Given the description of an element on the screen output the (x, y) to click on. 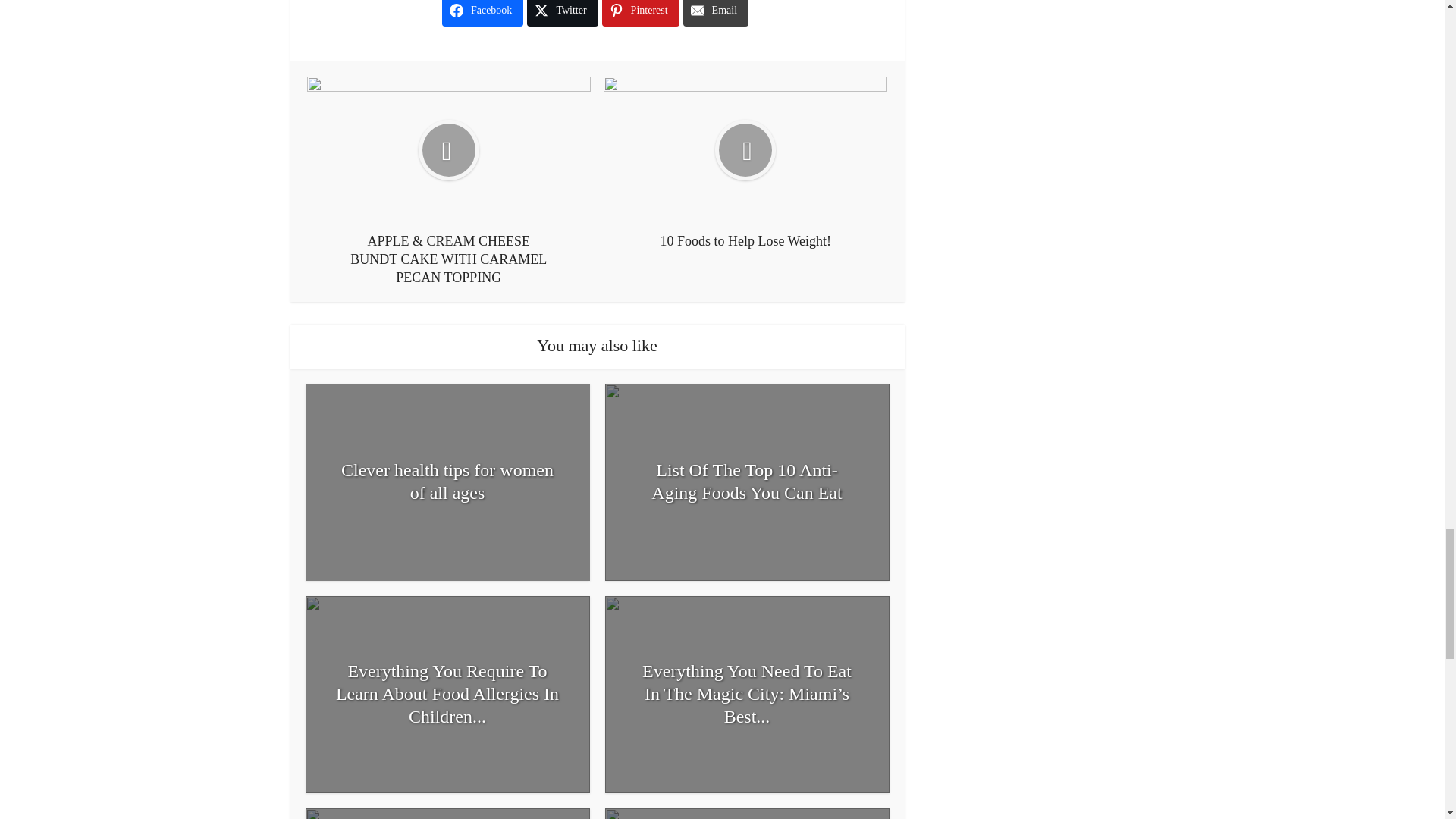
List Of The Top 10 Anti-Aging Foods You Can Eat (747, 481)
Pinterest (640, 13)
Share on Facebook (482, 13)
10 Foods to Help Lose Weight! (745, 162)
Clever health tips for women of all ages (446, 481)
Share on Email (715, 13)
Share on Pinterest (640, 13)
Email (715, 13)
Facebook (482, 13)
Twitter (561, 13)
Clever health tips for women of all ages (446, 481)
Share on Twitter (561, 13)
List Of The Top 10 Anti-Aging Foods You Can Eat (747, 481)
